Given the description of an element on the screen output the (x, y) to click on. 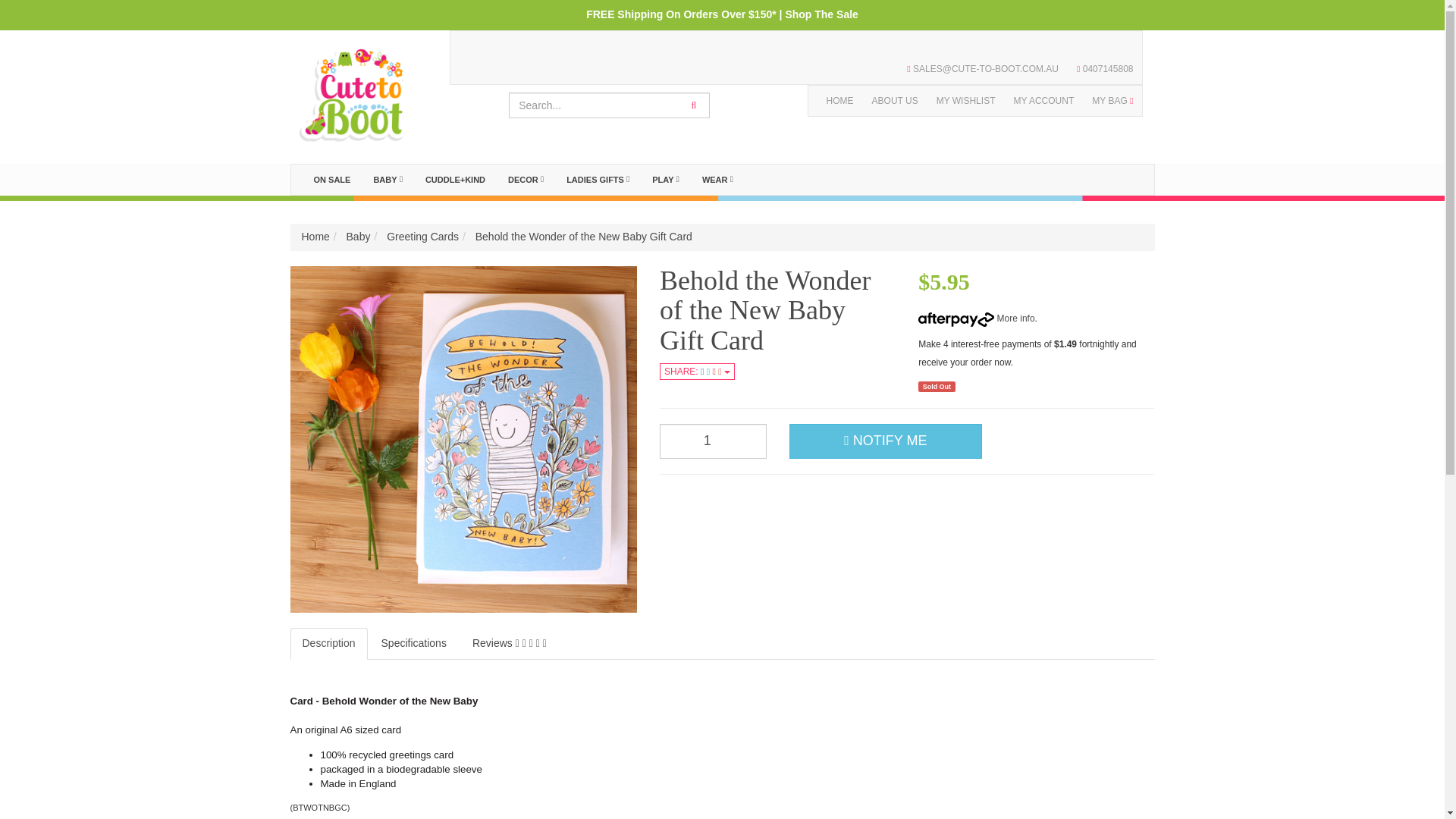
HOME (839, 100)
ABOUT US (895, 100)
Cute to Boot (351, 88)
DECOR (525, 179)
ON SALE (331, 179)
Shop The Sale (820, 14)
0407145808 (1104, 69)
MY BAG (1112, 100)
BABY (387, 179)
MY ACCOUNT (1043, 100)
MY WISHLIST (965, 100)
1 (713, 441)
